Given the description of an element on the screen output the (x, y) to click on. 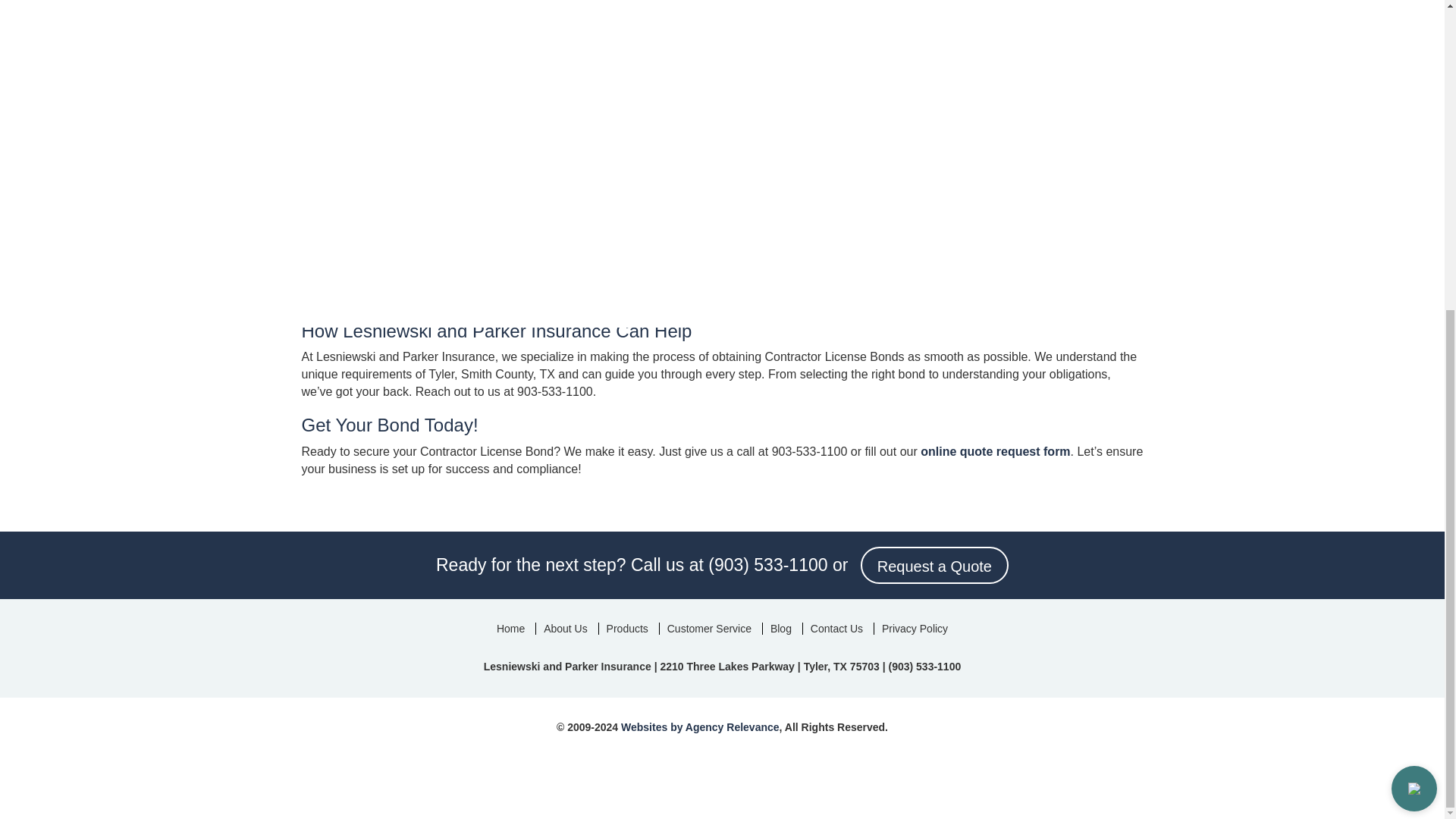
Contact Us (836, 628)
Home (510, 628)
About Us (565, 628)
Websites by Agency Relevance (699, 727)
Blog (780, 628)
Products (627, 628)
Customer Service (708, 628)
Privacy Policy (914, 628)
online quote request form (995, 451)
Request a Quote (934, 564)
